Given the description of an element on the screen output the (x, y) to click on. 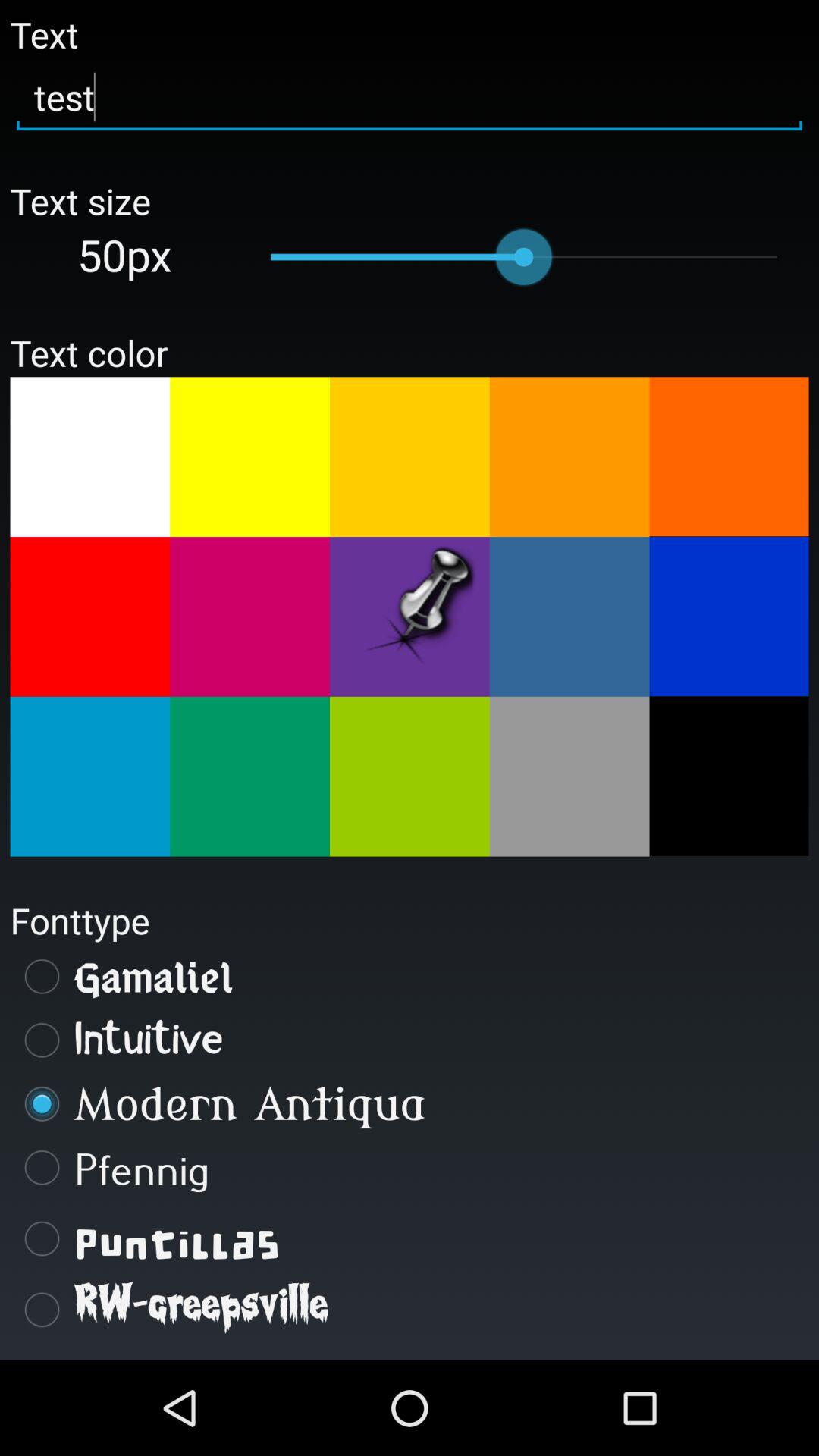
orange text color (569, 456)
